Given the description of an element on the screen output the (x, y) to click on. 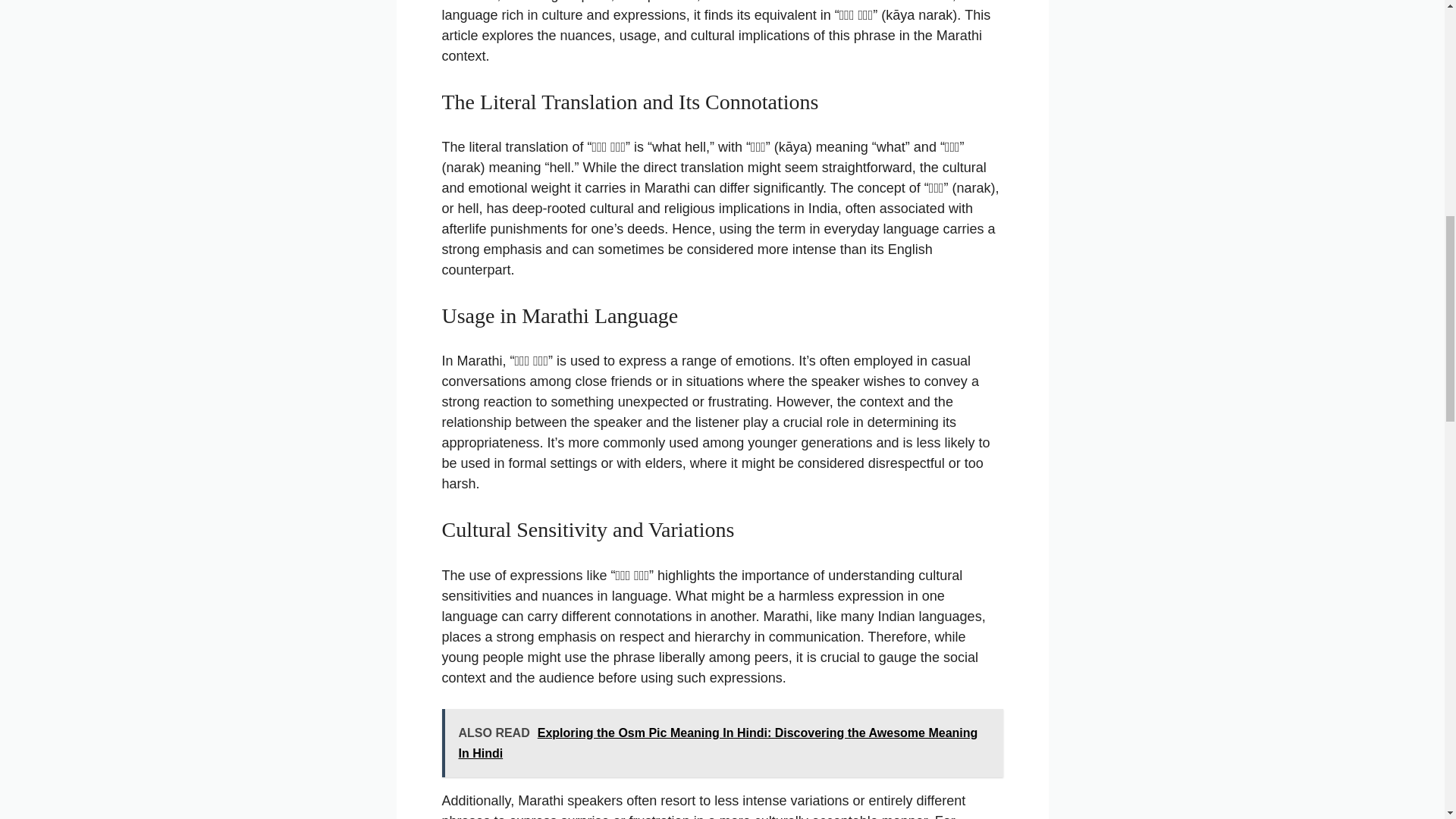
wishes to convey (915, 381)
